Given the description of an element on the screen output the (x, y) to click on. 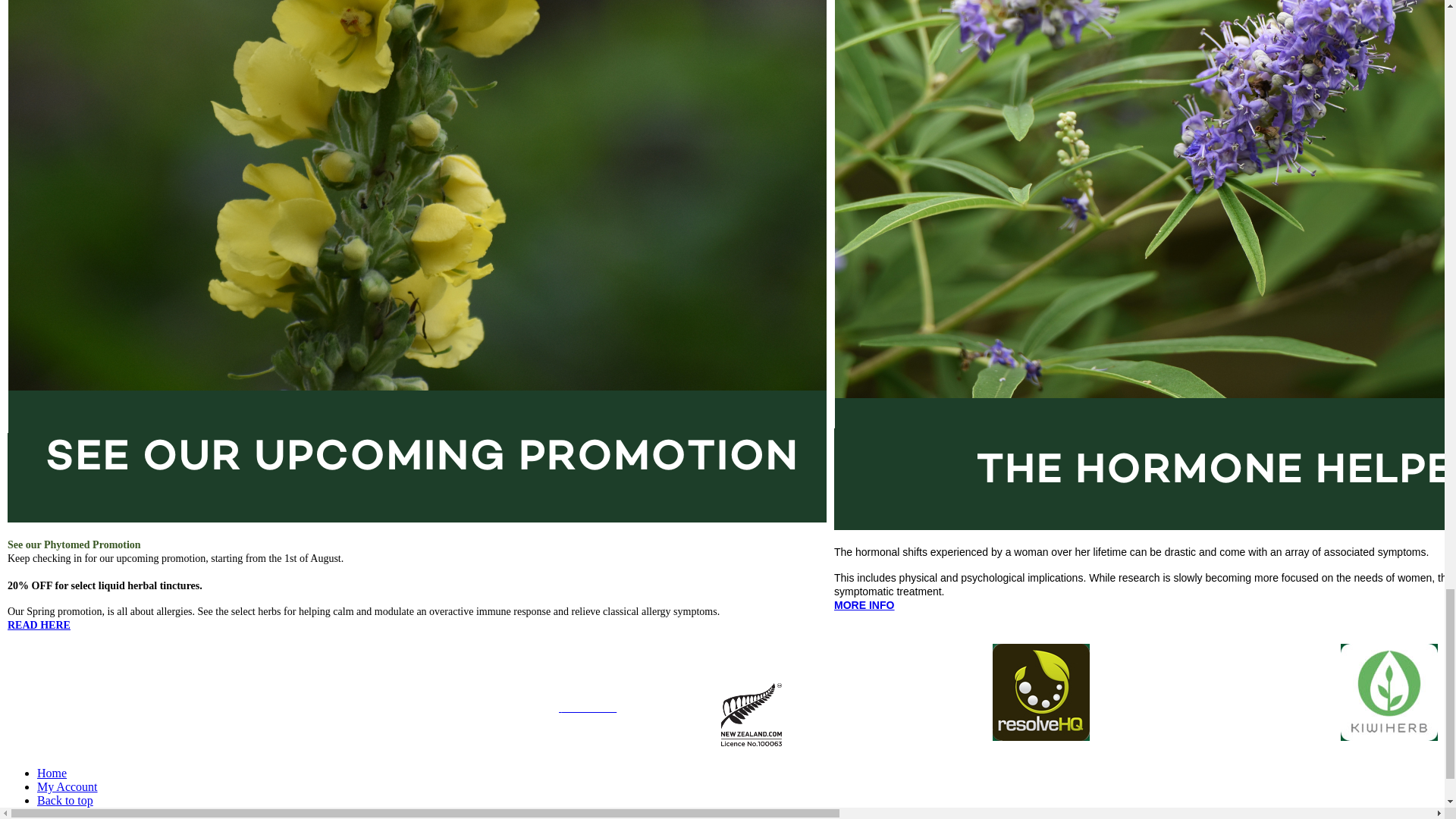
FernMark-101 (750, 714)
f1 (1389, 692)
resolve logo (1040, 692)
